Given the description of an element on the screen output the (x, y) to click on. 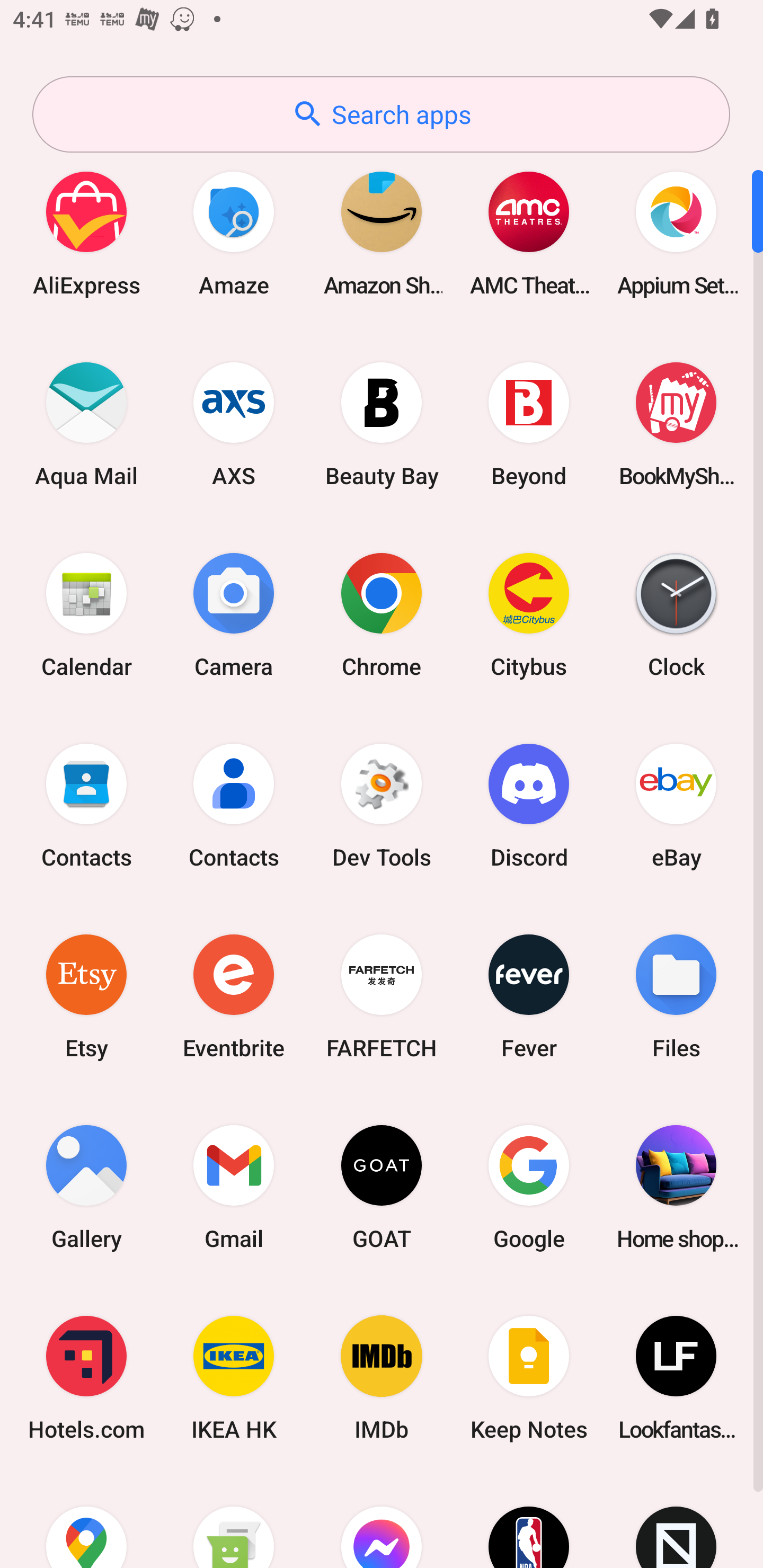
  Search apps (381, 114)
AliExpress (86, 233)
Amaze (233, 233)
Amazon Shopping (381, 233)
AMC Theatres (528, 233)
Appium Settings (676, 233)
Aqua Mail (86, 424)
AXS (233, 424)
Beauty Bay (381, 424)
Beyond (528, 424)
BookMyShow (676, 424)
Calendar (86, 614)
Camera (233, 614)
Chrome (381, 614)
Citybus (528, 614)
Clock (676, 614)
Contacts (86, 805)
Contacts (233, 805)
Dev Tools (381, 805)
Discord (528, 805)
eBay (676, 805)
Etsy (86, 996)
Eventbrite (233, 996)
FARFETCH (381, 996)
Fever (528, 996)
Files (676, 996)
Gallery (86, 1186)
Gmail (233, 1186)
GOAT (381, 1186)
Google (528, 1186)
Home shopping (676, 1186)
Hotels.com (86, 1377)
IKEA HK (233, 1377)
IMDb (381, 1377)
Keep Notes (528, 1377)
Lookfantastic (676, 1377)
Maps (86, 1520)
Messaging (233, 1520)
Messenger (381, 1520)
NBA (528, 1520)
Novelship (676, 1520)
